Given the description of an element on the screen output the (x, y) to click on. 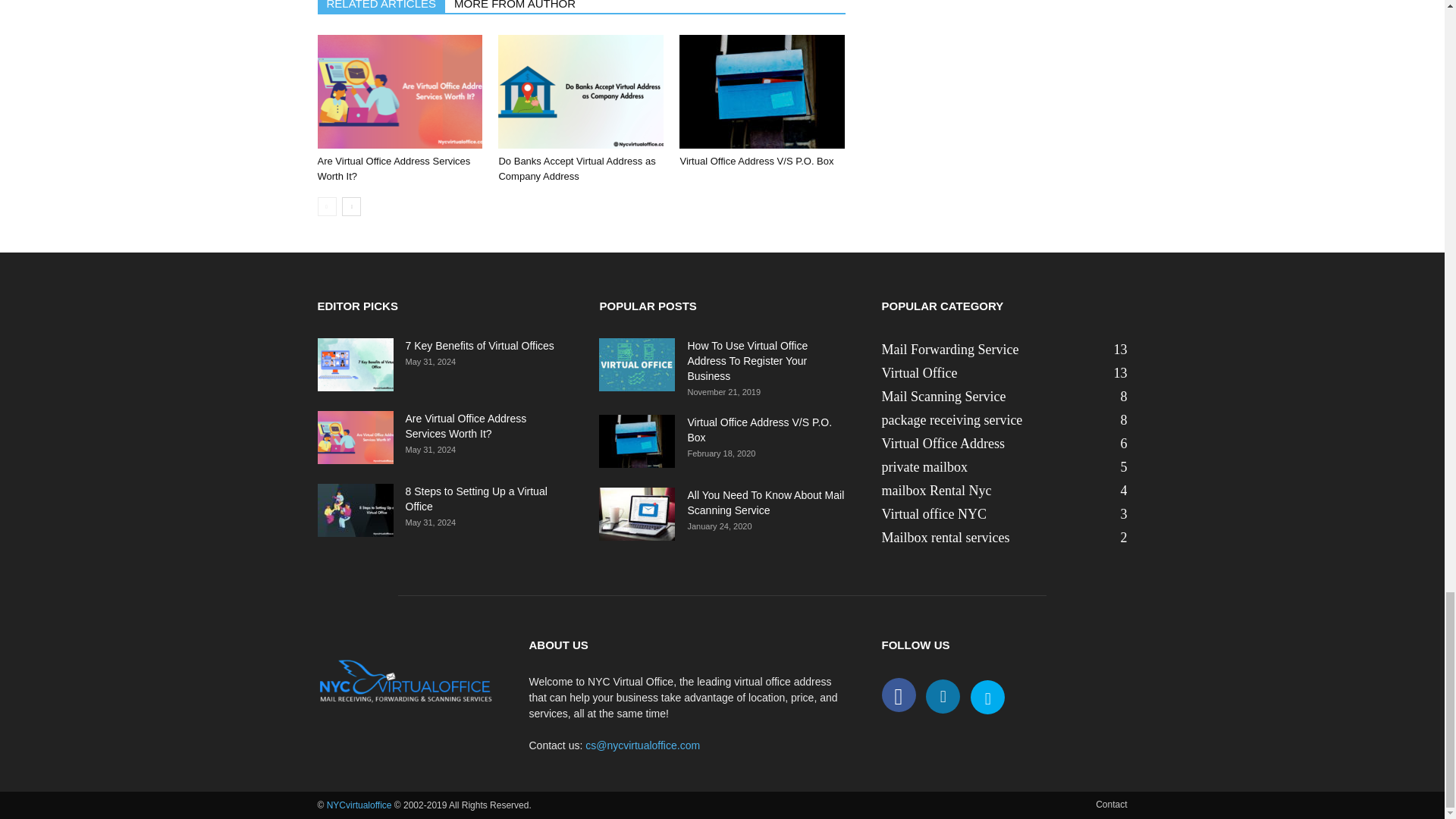
Are Virtual Office Address Services Worth It? (393, 168)
Do Banks Accept Virtual Address as Company Address (580, 91)
Do Banks Accept Virtual Address as Company Address (576, 168)
Are Virtual Office Address Services Worth It? (399, 91)
